Given the description of an element on the screen output the (x, y) to click on. 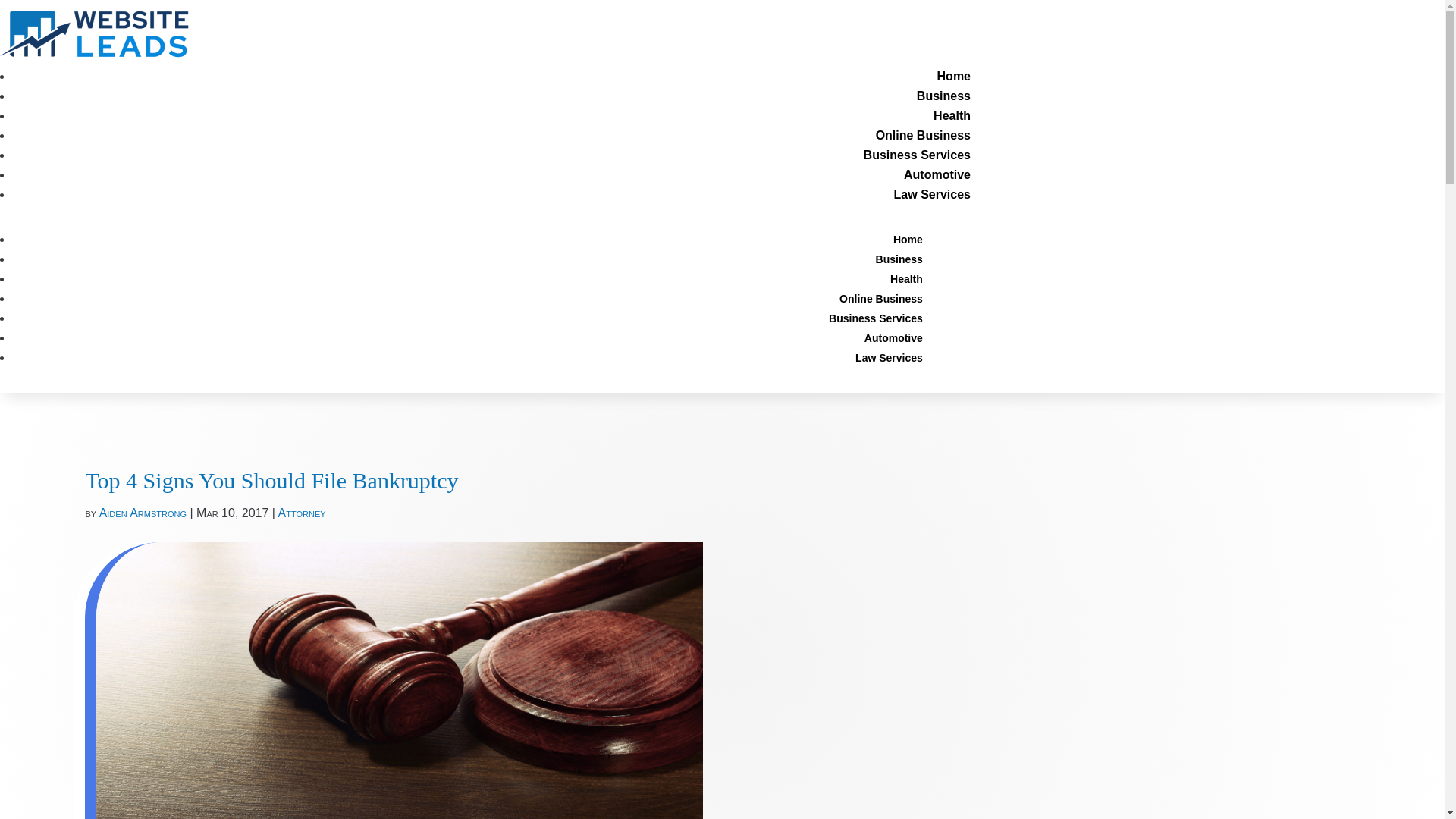
Law Services (932, 194)
Online Business (881, 298)
Aiden Armstrong (142, 512)
Home (954, 75)
Automotive (893, 338)
Business Services (917, 154)
Law Services (889, 357)
Business Services (875, 318)
Posts by Aiden Armstrong (142, 512)
Home (908, 239)
